Given the description of an element on the screen output the (x, y) to click on. 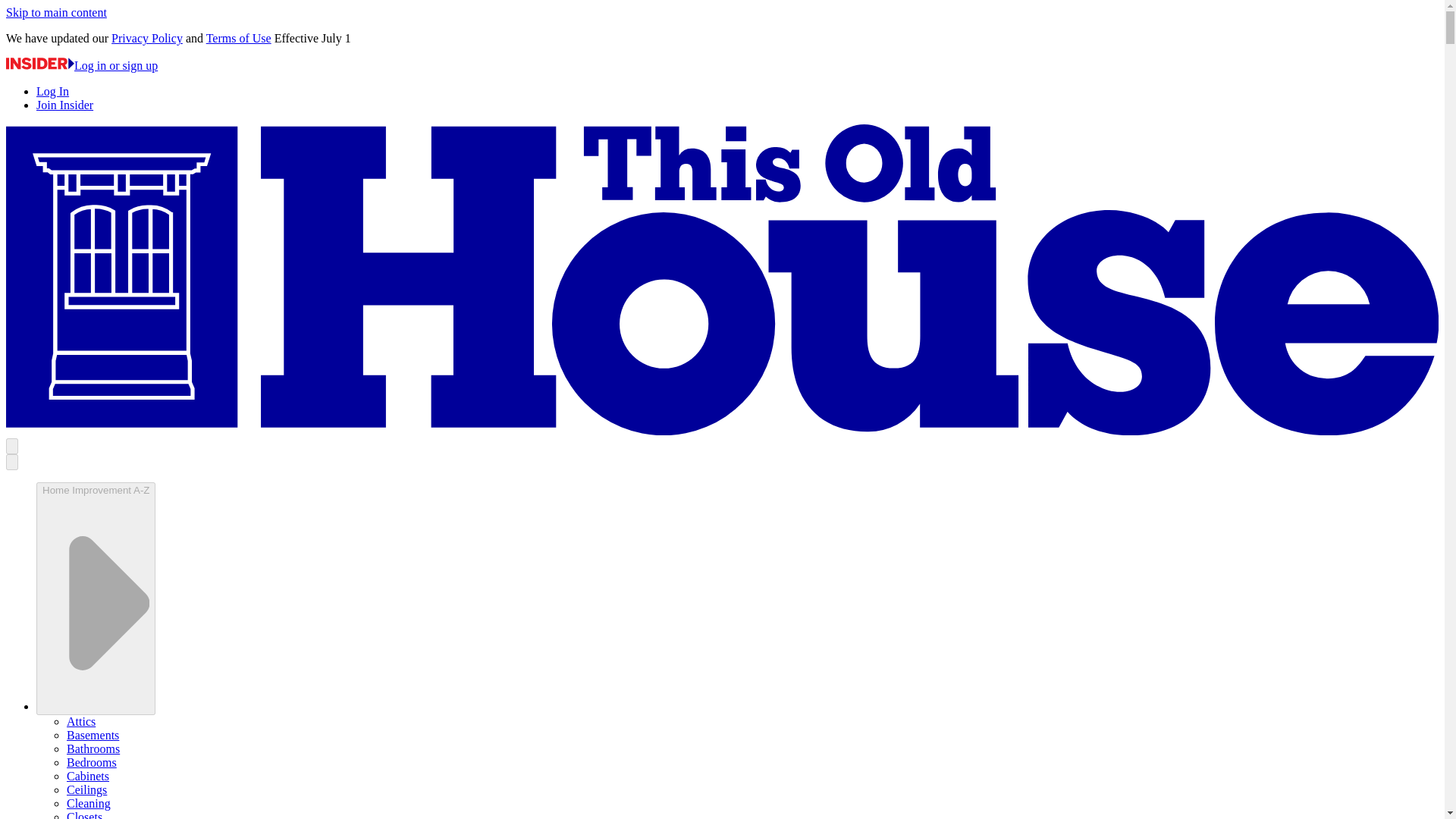
Log In (52, 91)
Attics (81, 721)
Log in or sign up (81, 65)
Terms of Use (238, 38)
Ceilings (86, 789)
Basements (92, 735)
Bathrooms (92, 748)
Privacy Policy (147, 38)
Join Insider (64, 104)
Cleaning (88, 802)
Closets (83, 814)
Bedrooms (91, 762)
Cabinets (87, 775)
Skip to main content (55, 11)
